Given the description of an element on the screen output the (x, y) to click on. 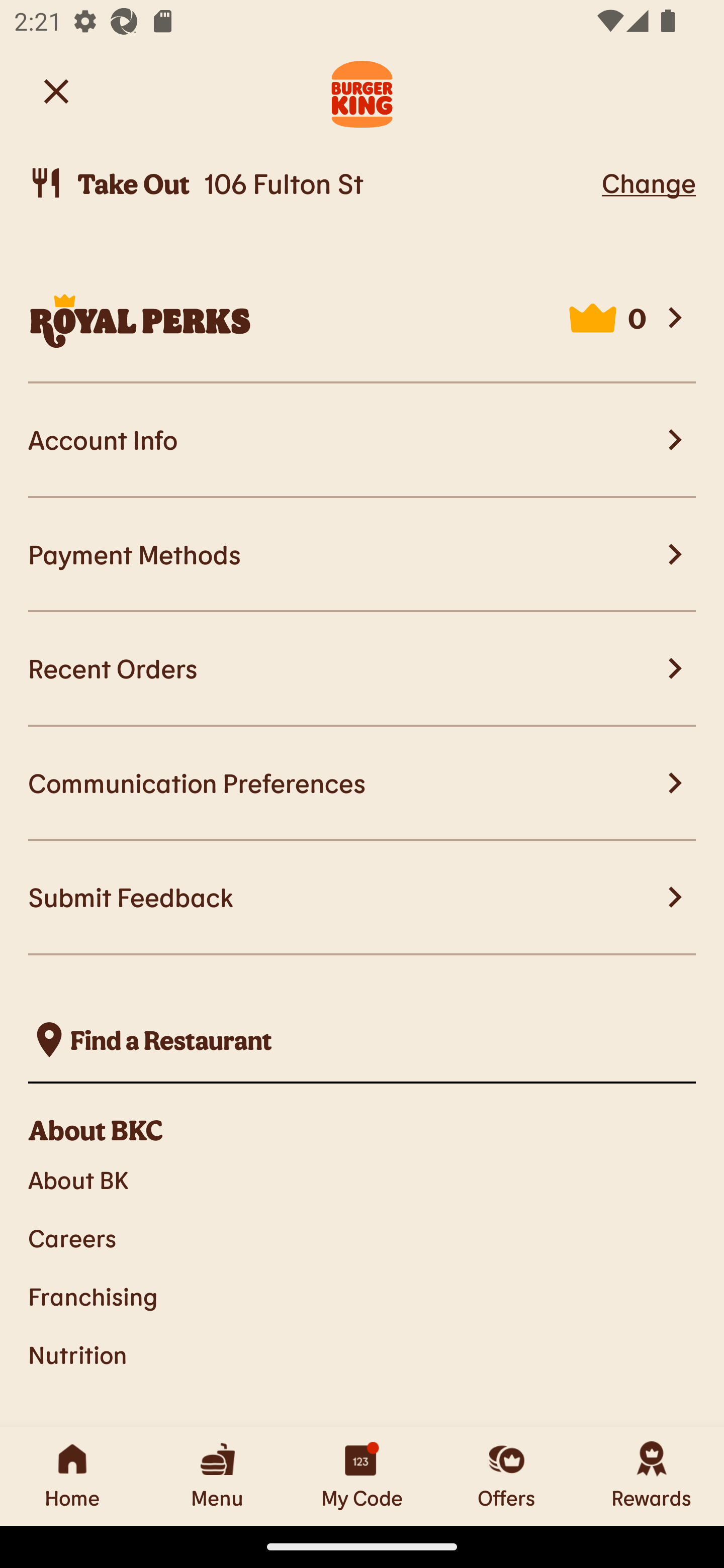
Burger King Logo. Navigate to Home (362, 91)
Back  (56, 90)
Take Out, 106 Fulton St  Take Out 106 Fulton St (311, 183)
Change (648, 182)
Account Info Account Info  (361, 441)
Payment Methods Payment Methods  (361, 554)
Recent Orders Recent Orders  (361, 668)
Submit Feedback Submit Feedback  (361, 897)
, Find a Restaurant  Find a Restaurant (361, 1040)
About BK (361, 1178)
Careers (361, 1237)
Franchising (361, 1295)
Nutrition (361, 1354)
Home (72, 1475)
Menu (216, 1475)
My Code (361, 1475)
Offers (506, 1475)
Rewards (651, 1475)
